Given the description of an element on the screen output the (x, y) to click on. 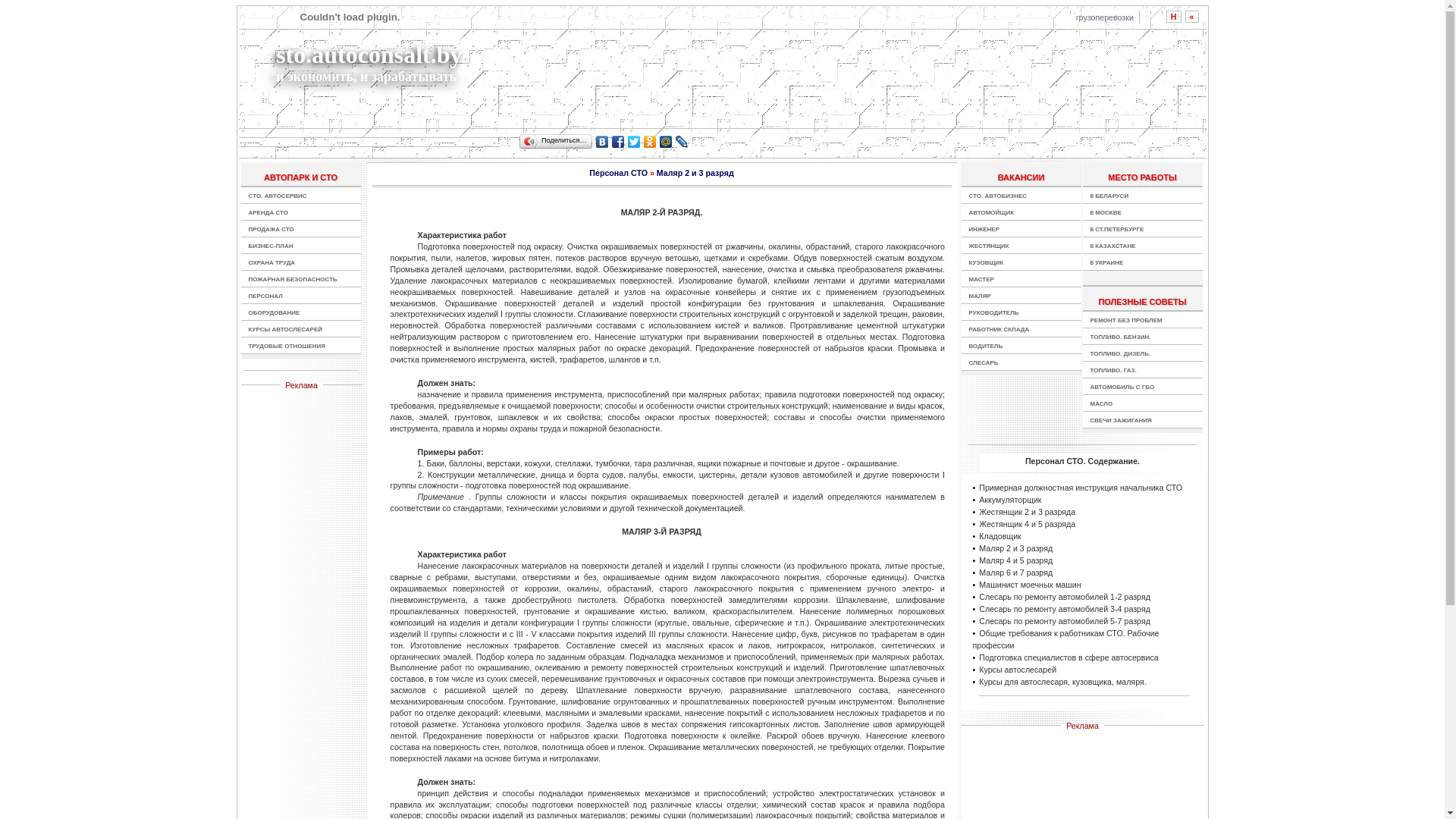
Twitter Element type: hover (634, 141)
H Element type: text (1173, 16)
LiveJournal Element type: hover (682, 141)
Advertisement Element type: hover (804, 67)
Facebook Element type: hover (618, 141)
